Given the description of an element on the screen output the (x, y) to click on. 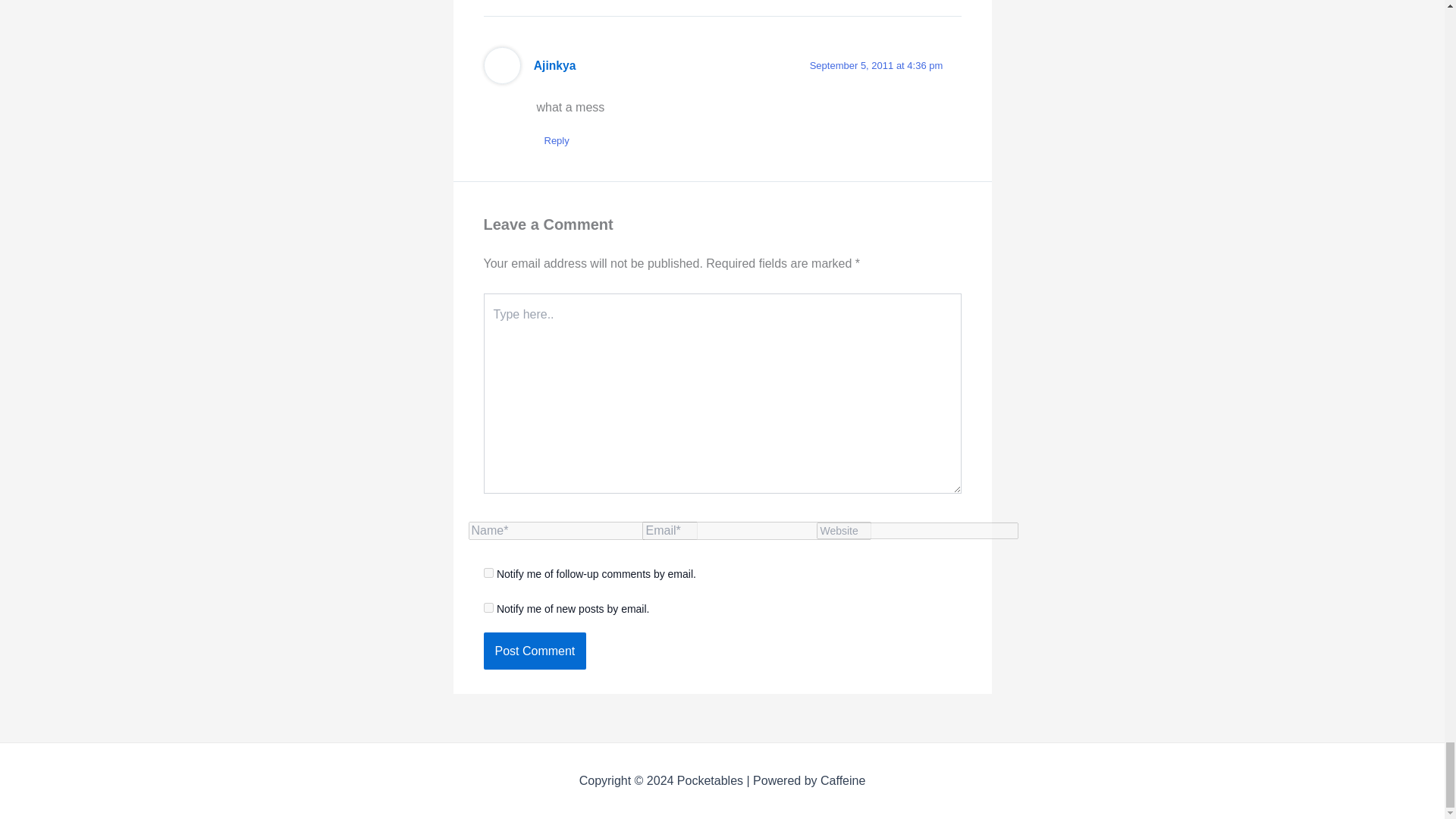
subscribe (488, 607)
Post Comment (534, 651)
subscribe (488, 573)
